Given the description of an element on the screen output the (x, y) to click on. 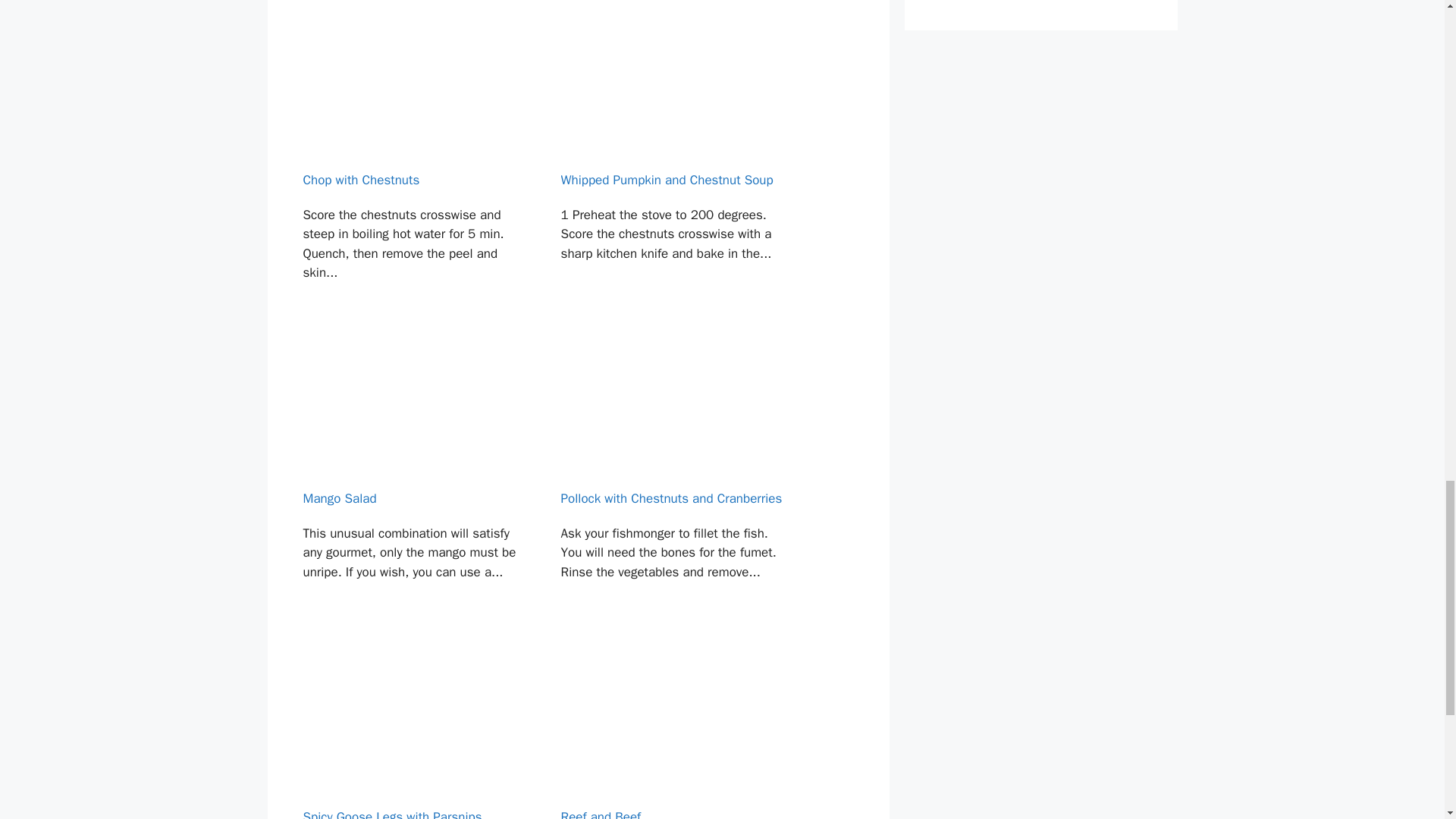
Reef and Beef (673, 730)
